Given the description of an element on the screen output the (x, y) to click on. 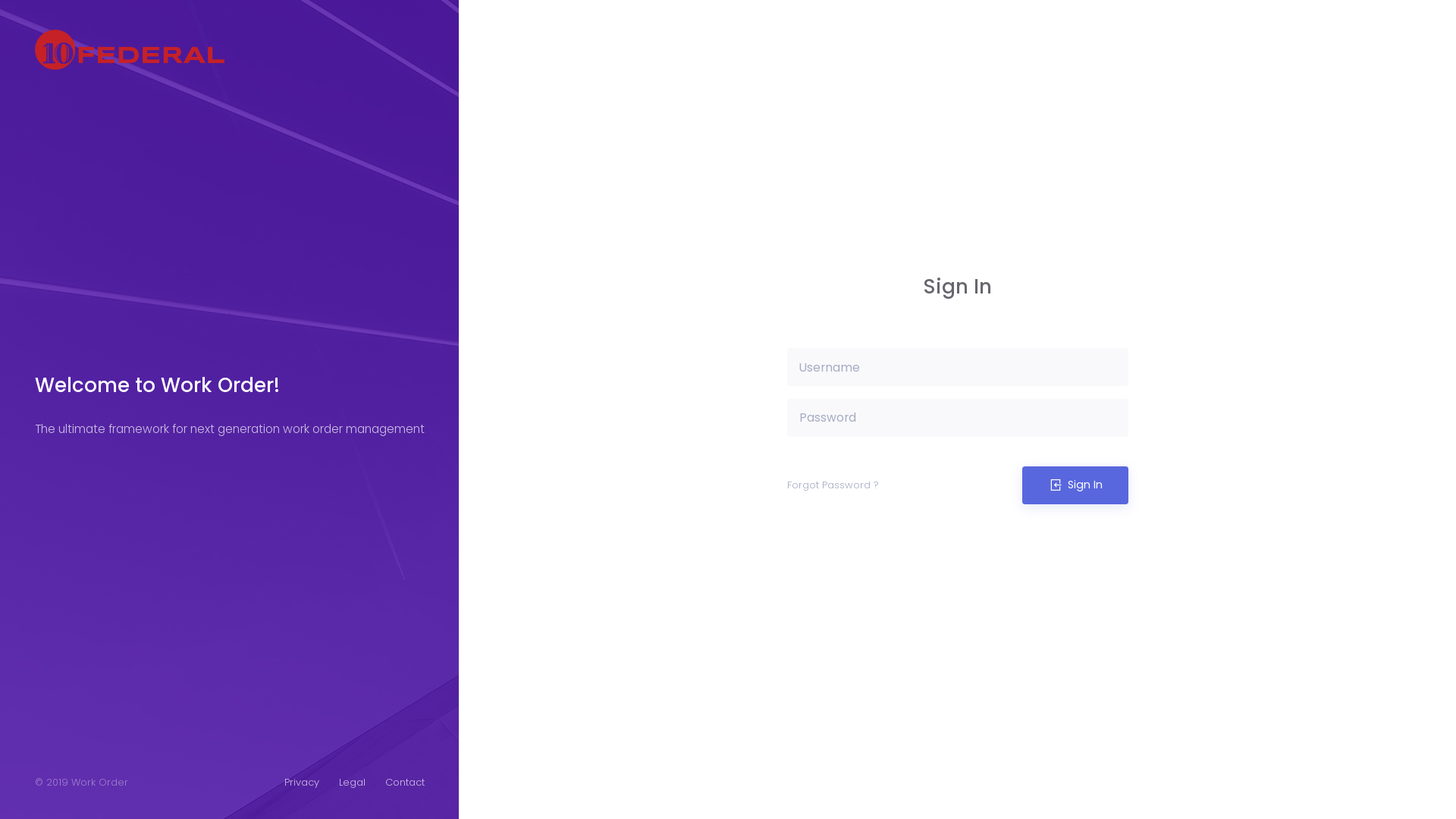
Contact Element type: text (404, 782)
Sign In Element type: text (1075, 485)
Legal Element type: text (351, 782)
Privacy Element type: text (300, 782)
Forgot Password ? Element type: text (832, 484)
